Given the description of an element on the screen output the (x, y) to click on. 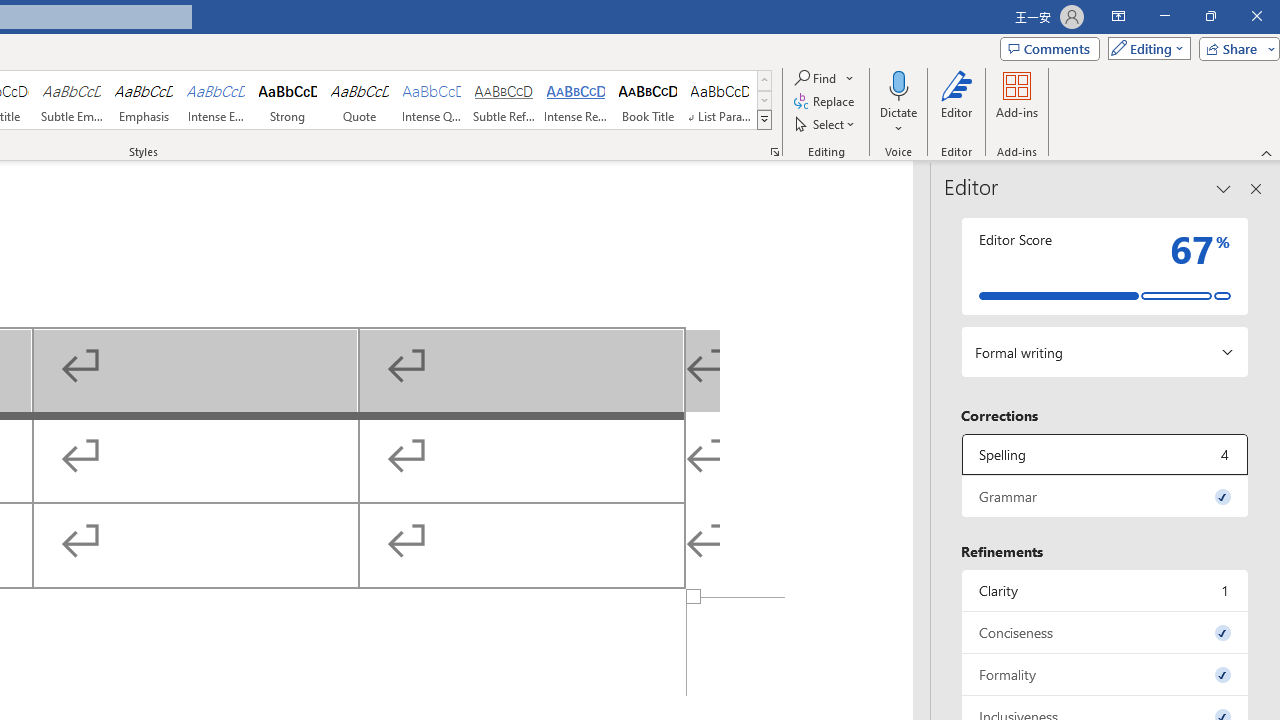
Editor (956, 102)
Conciseness, 0 issues. Press space or enter to review items. (1105, 632)
Clarity, 1 issue. Press space or enter to review items. (1105, 590)
Quote (359, 100)
Row up (763, 79)
Strong (287, 100)
Formality, 0 issues. Press space or enter to review items. (1105, 673)
Subtle Emphasis (71, 100)
